Given the description of an element on the screen output the (x, y) to click on. 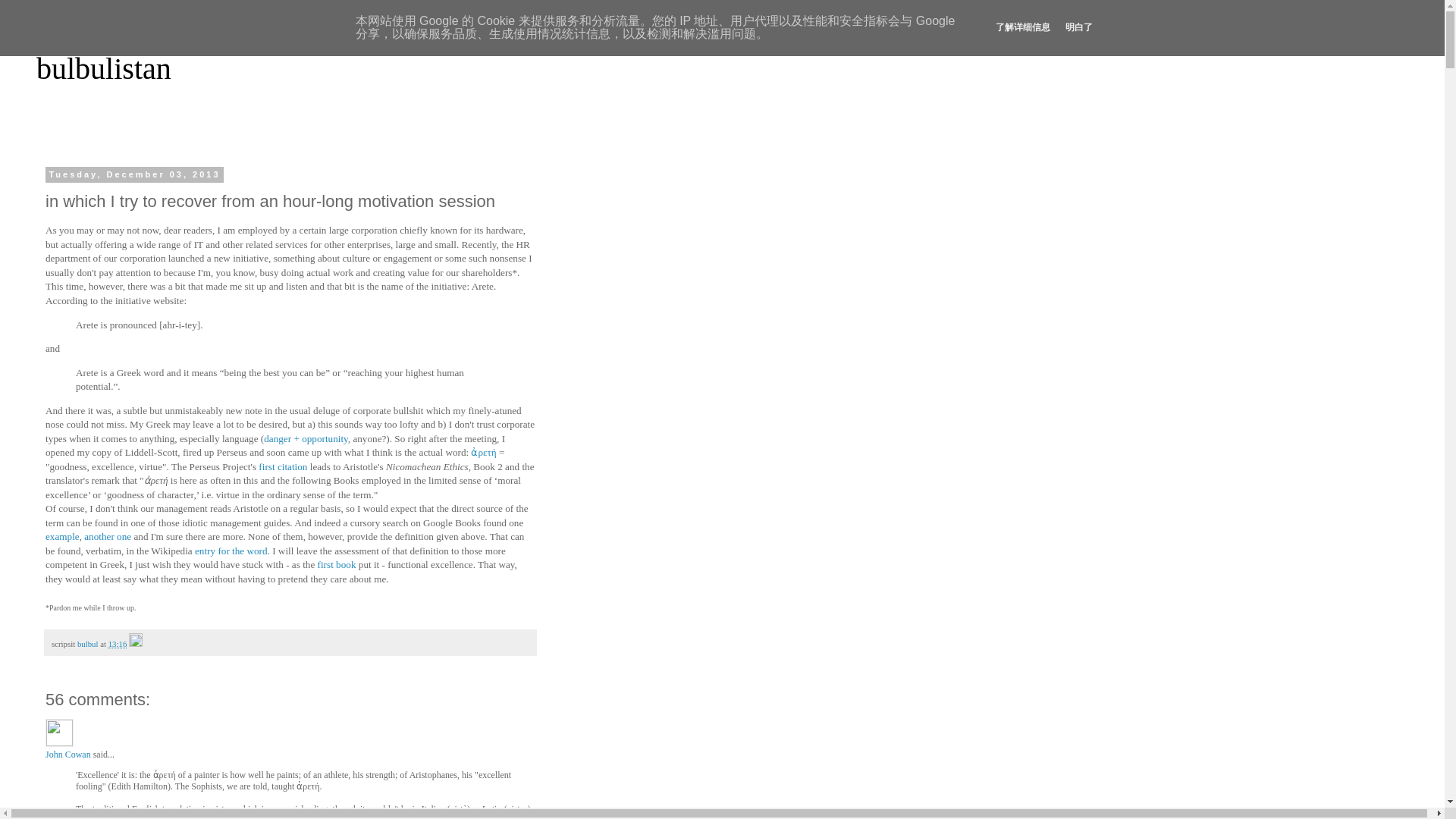
permanent link (117, 643)
John Cowan (59, 732)
another one (107, 536)
bulbul (88, 643)
bulbulistan (103, 68)
13:16 (117, 643)
John Cowan (67, 754)
author profile (88, 643)
Edit Post (135, 643)
example (62, 536)
first citation (283, 466)
entry for the word (231, 550)
first book (336, 564)
